Given the description of an element on the screen output the (x, y) to click on. 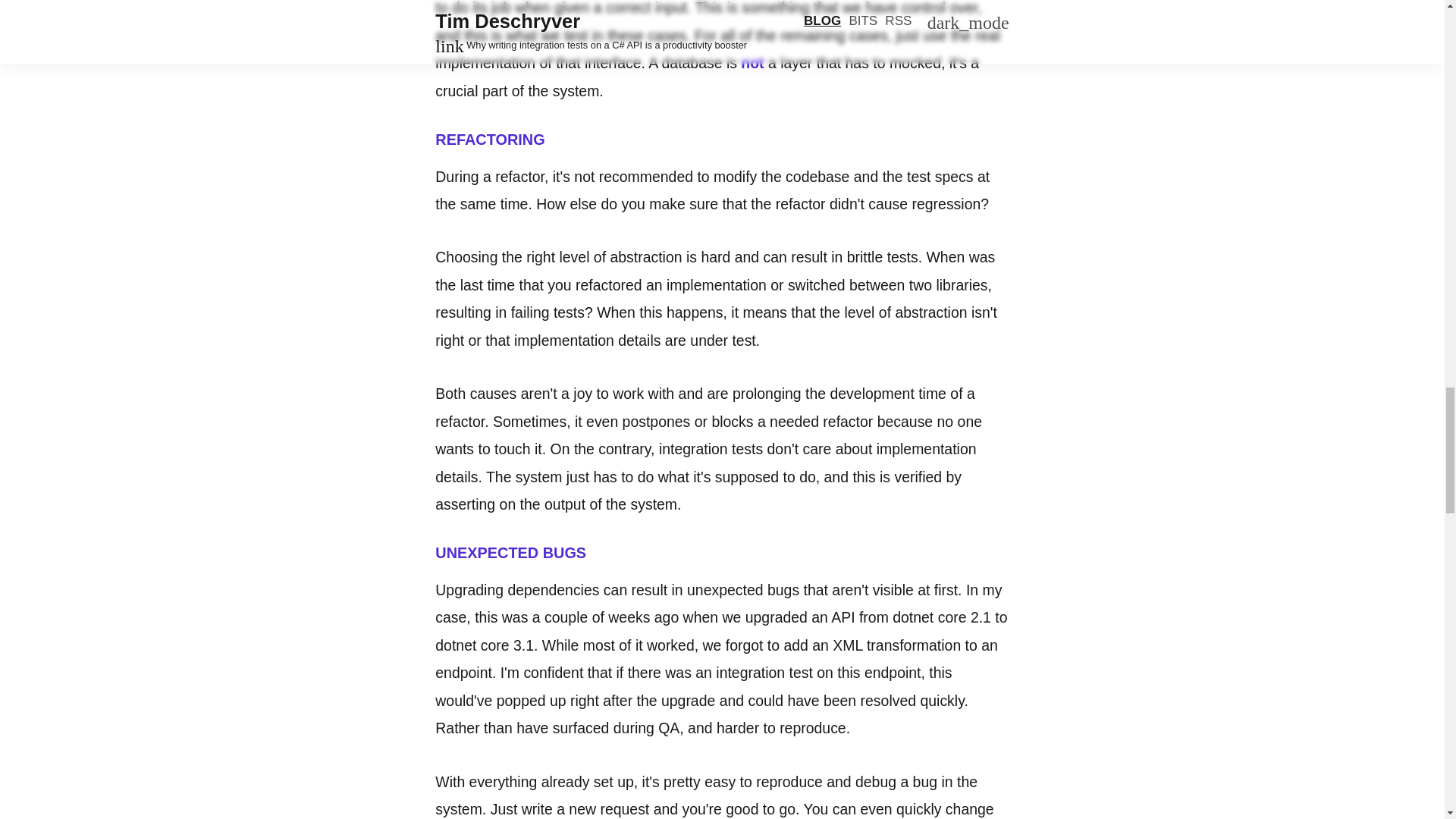
UNEXPECTED BUGS (510, 552)
REFACTORING (489, 139)
